Given the description of an element on the screen output the (x, y) to click on. 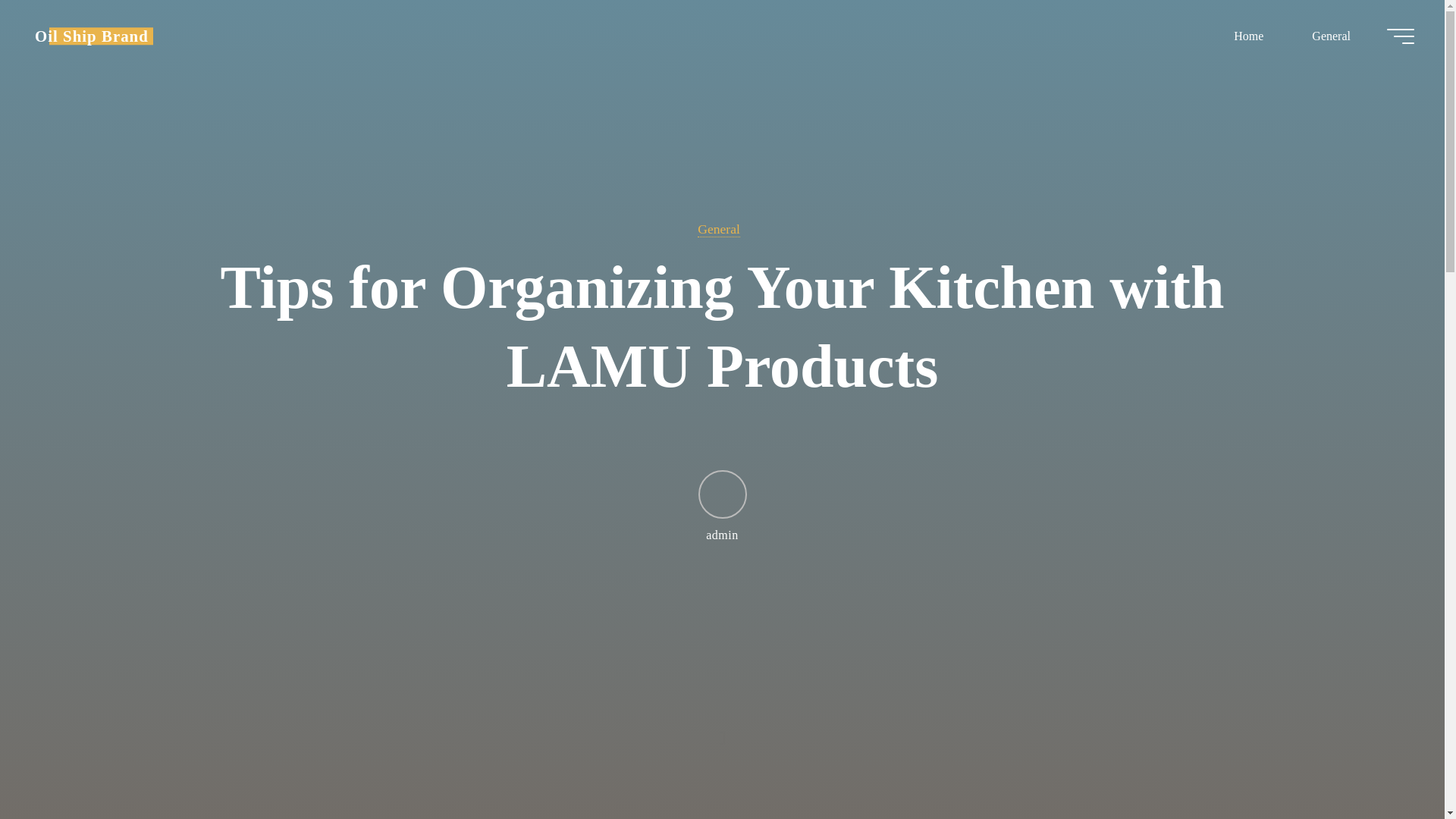
Home (1248, 35)
Blog (91, 36)
General (718, 229)
Oil Ship Brand (91, 36)
Read more (721, 724)
General (1330, 35)
